Given the description of an element on the screen output the (x, y) to click on. 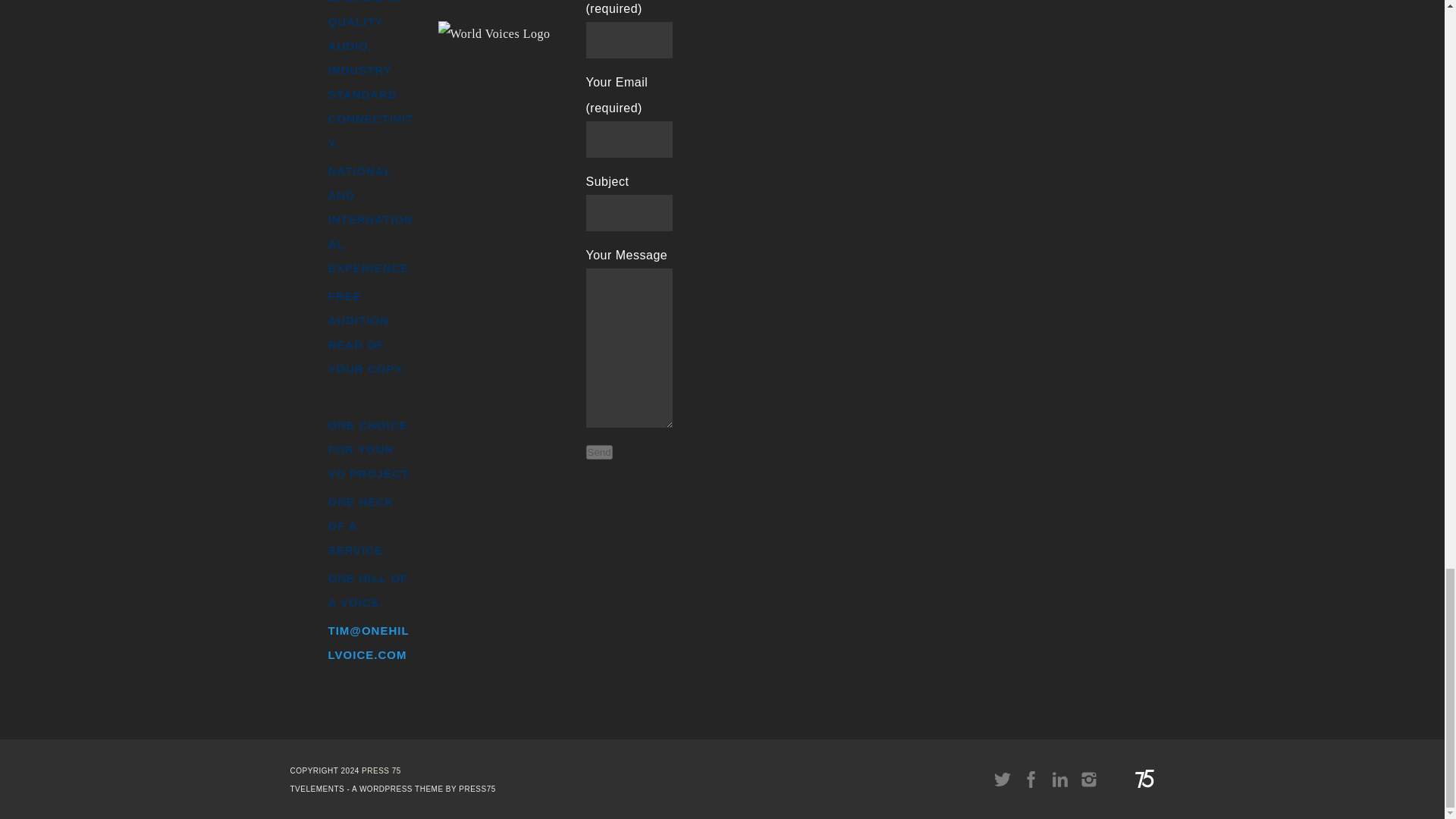
Send (598, 452)
A Semantic Personal Publishing Platform (381, 770)
Send (598, 452)
Contact (368, 642)
PRESS 75 (381, 770)
